Given the description of an element on the screen output the (x, y) to click on. 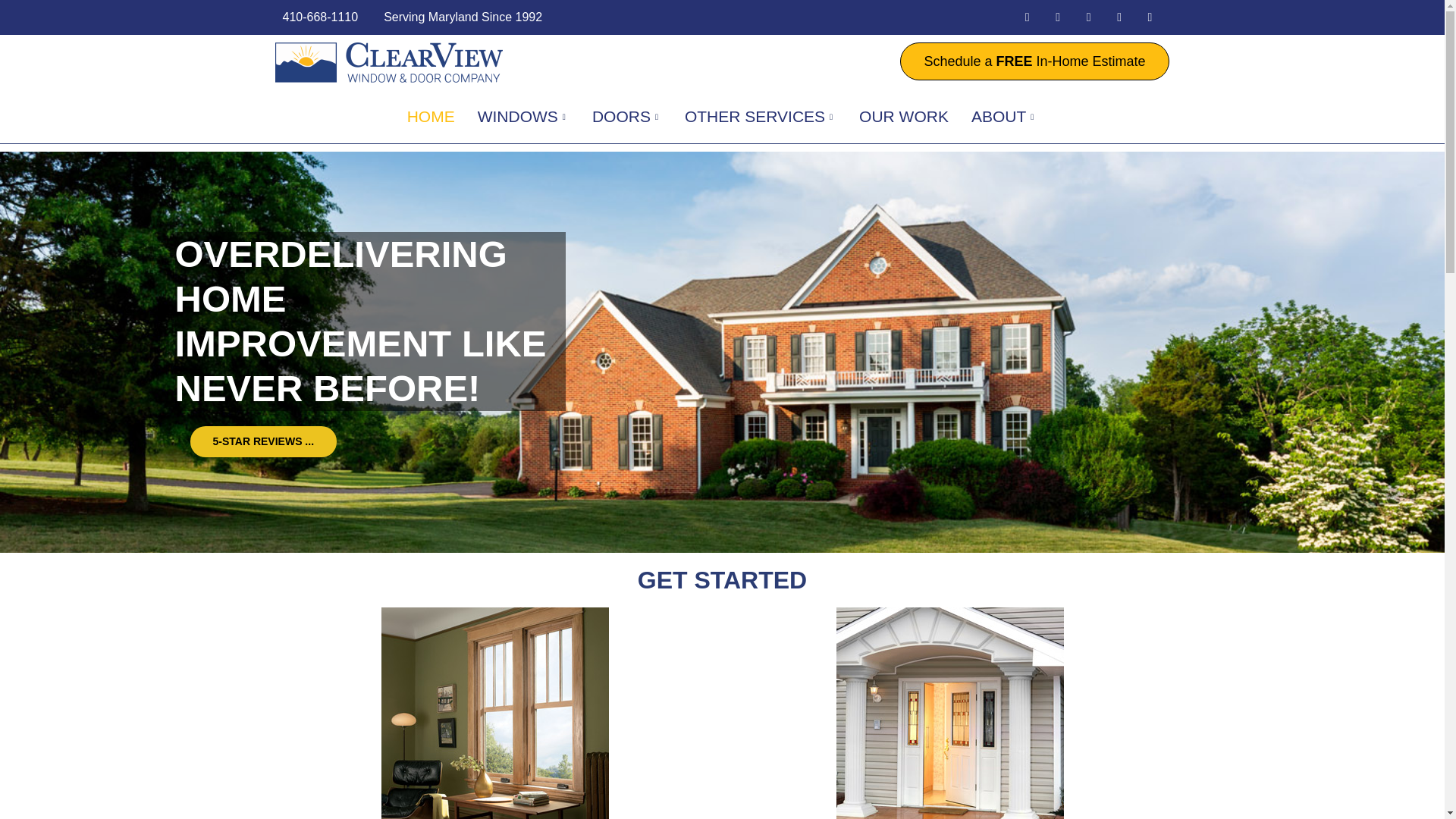
ABOUT (1003, 116)
WINDOWS (522, 116)
DOORS (626, 116)
OTHER SERVICES (759, 116)
OUR WORK (903, 116)
Schedule a FREE In-Home Estimate (1034, 61)
410-668-1110 (318, 17)
HOME (430, 116)
